Given the description of an element on the screen output the (x, y) to click on. 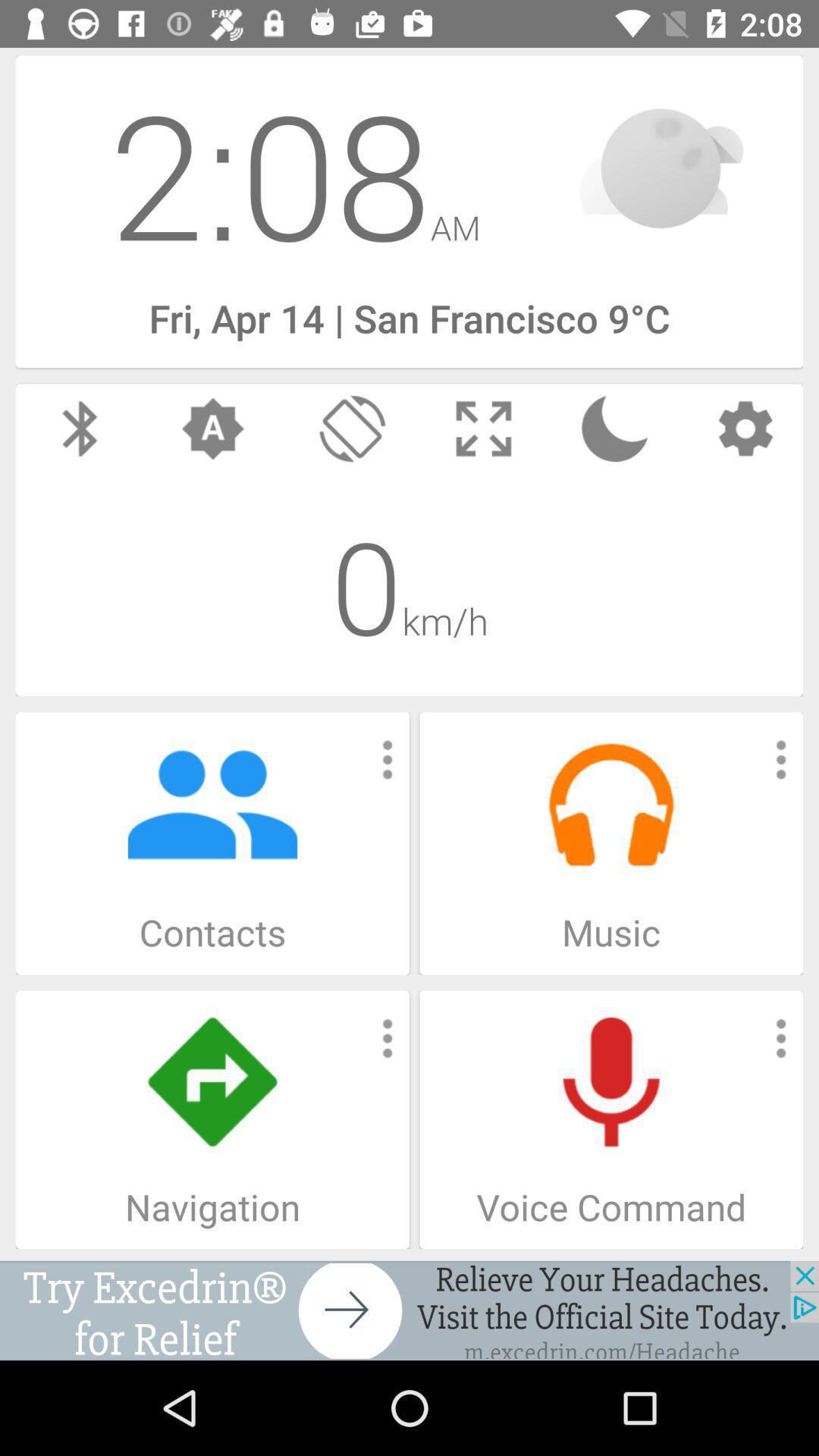
try excedrin for relief next (409, 1310)
